Given the description of an element on the screen output the (x, y) to click on. 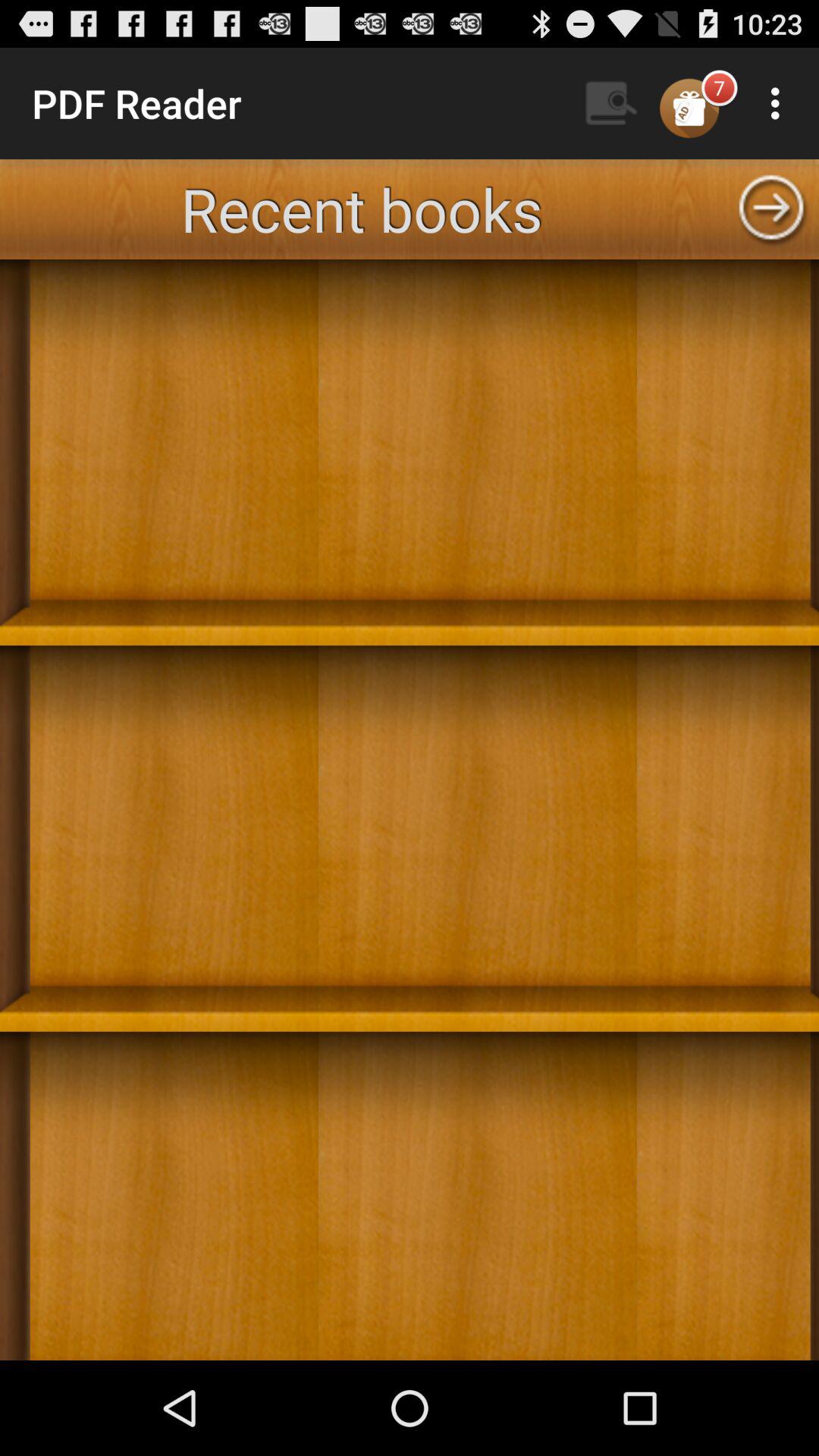
go back (771, 209)
